Given the description of an element on the screen output the (x, y) to click on. 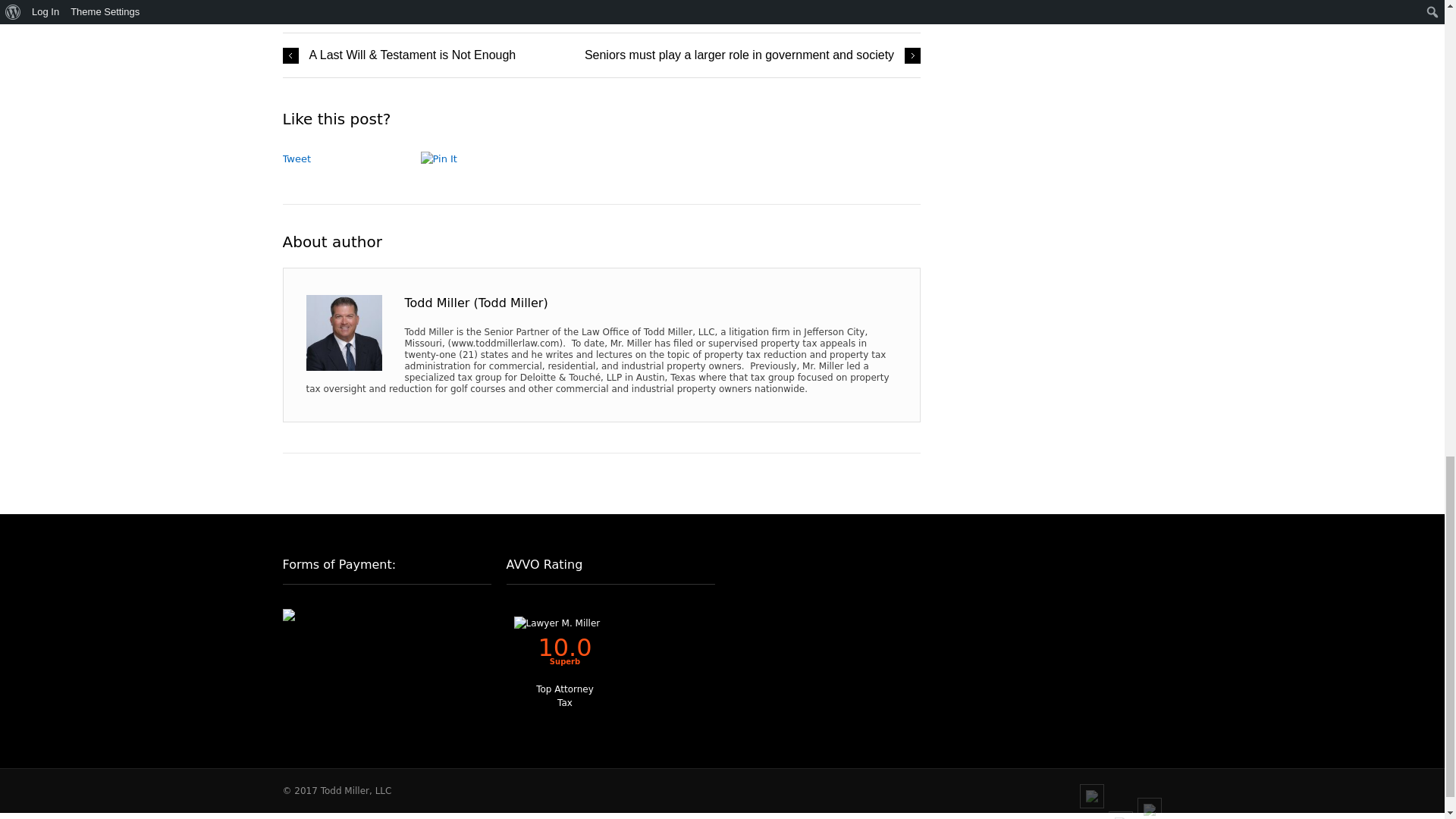
Pin It (454, 159)
